Given the description of an element on the screen output the (x, y) to click on. 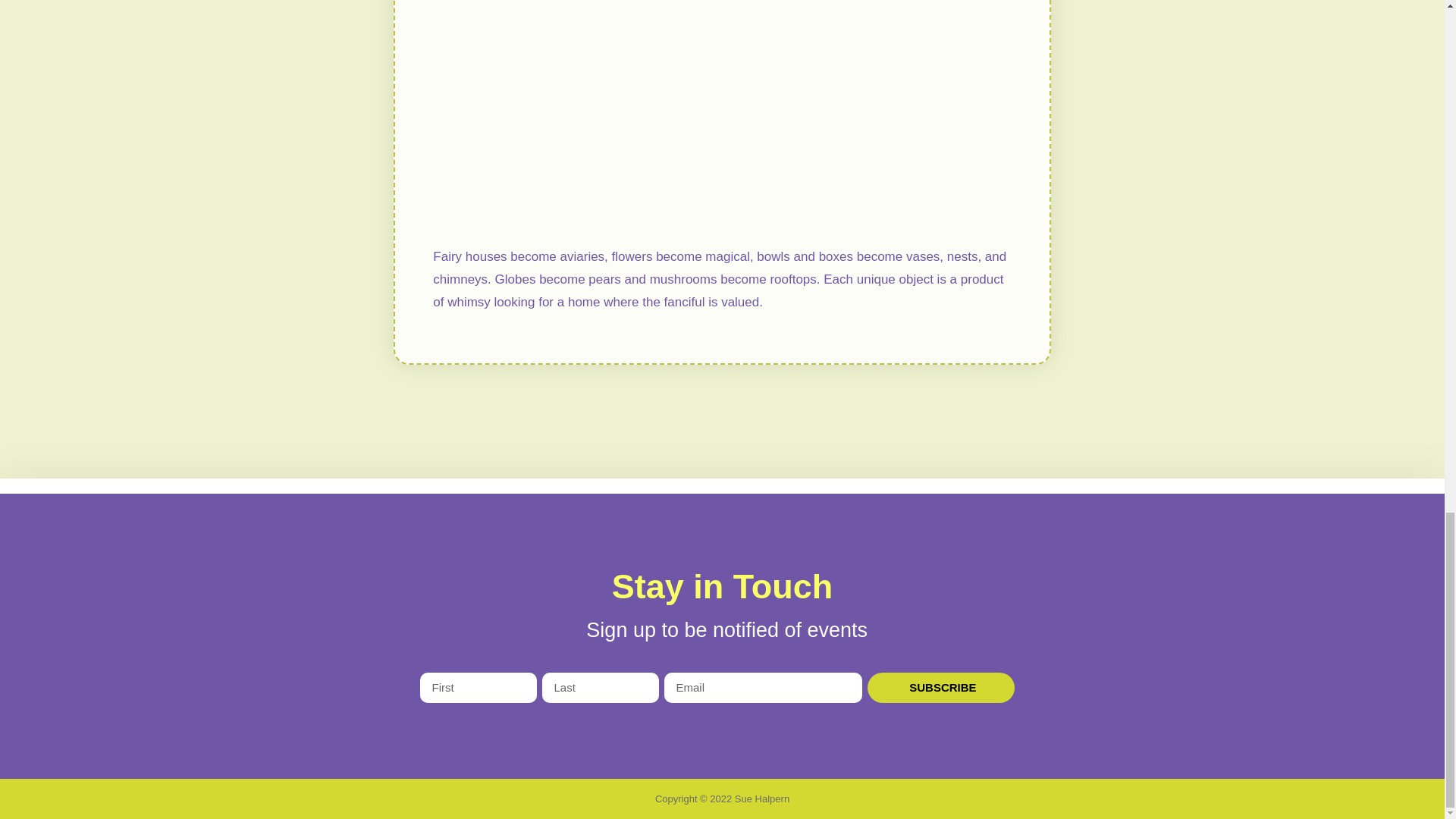
SUBSCRIBE (940, 687)
